Given the description of an element on the screen output the (x, y) to click on. 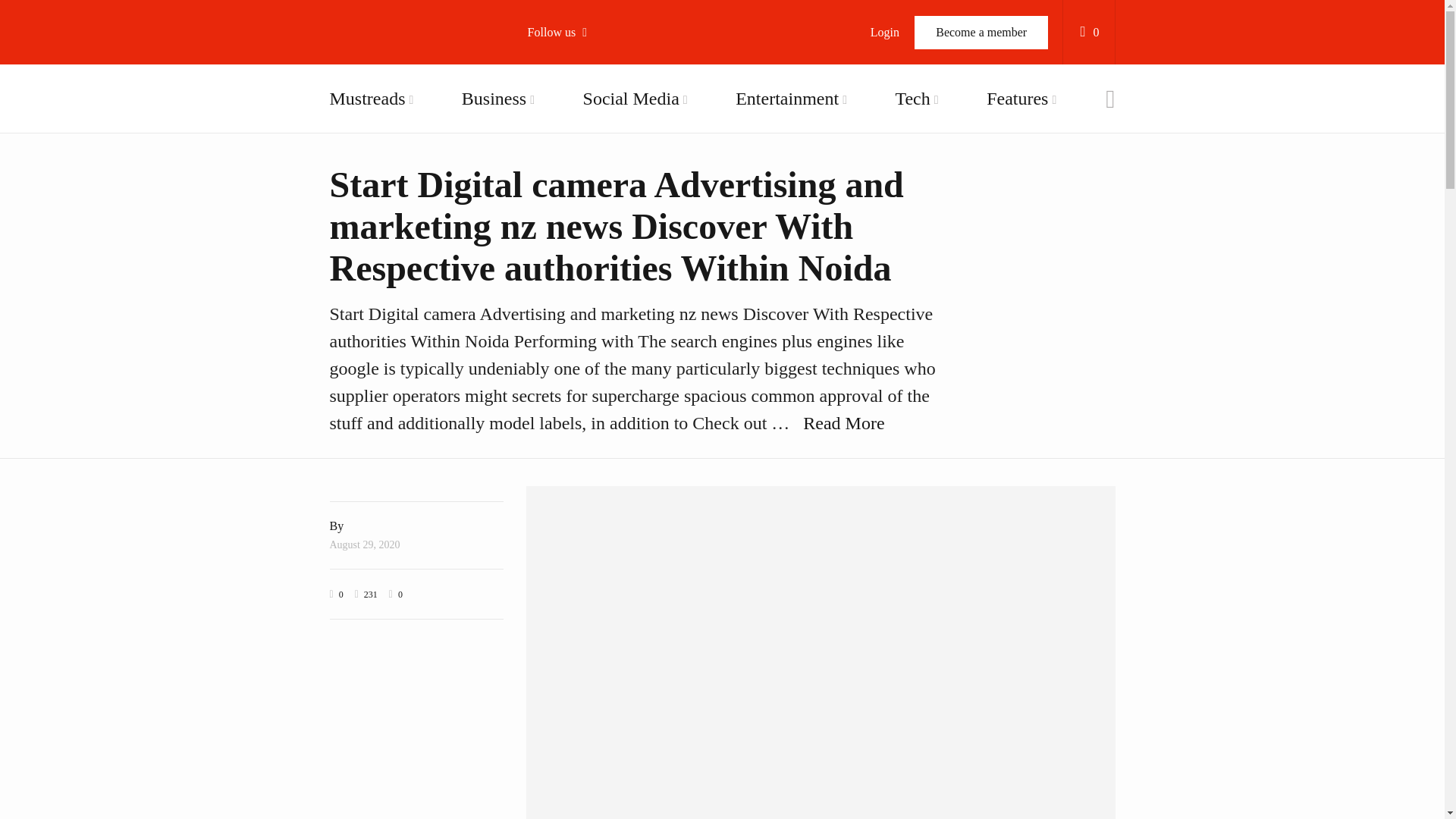
Become a member (981, 31)
Follow us (564, 32)
Follow us on Pinterest (614, 238)
Follow us on Linkedin (614, 276)
Follow us on Pinterest (614, 238)
Follow us on Linkedin (614, 276)
Follow us on Vimeo (614, 199)
Follow us on Facebook (614, 83)
Follow us on Twitter (614, 121)
Follow us on YouTube (614, 160)
